Given the description of an element on the screen output the (x, y) to click on. 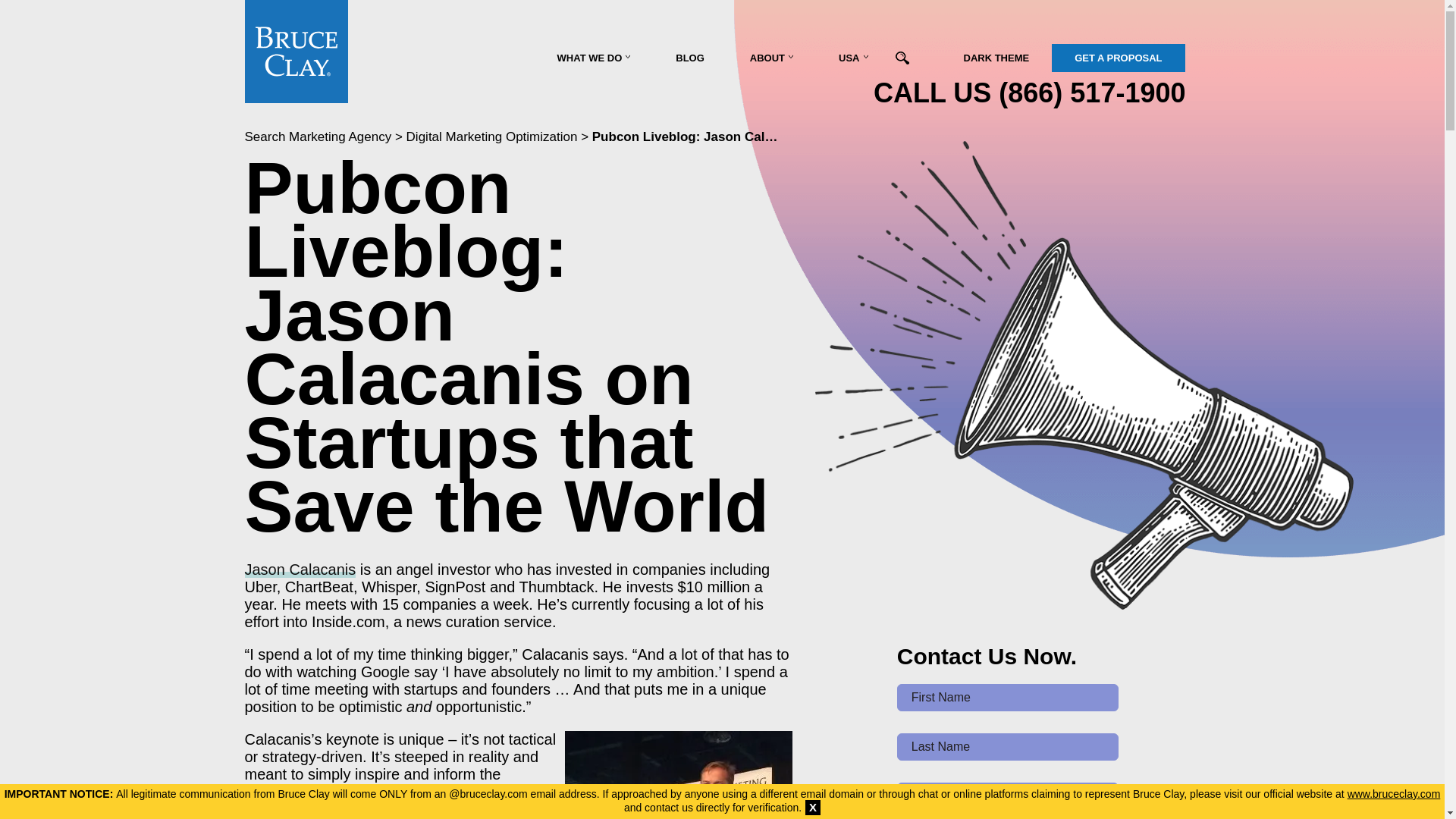
Go to Bruce Clay, Inc.. (317, 136)
Search Marketing Agency (317, 136)
Go to the Digital Marketing Optimization category archives. (492, 136)
Digital Marketing Optimization (492, 136)
DARK THEME (995, 58)
GET A PROPOSAL (1118, 58)
USA (852, 58)
ABOUT (770, 58)
WHAT WE DO (593, 58)
SEARCH (917, 60)
